Given the description of an element on the screen output the (x, y) to click on. 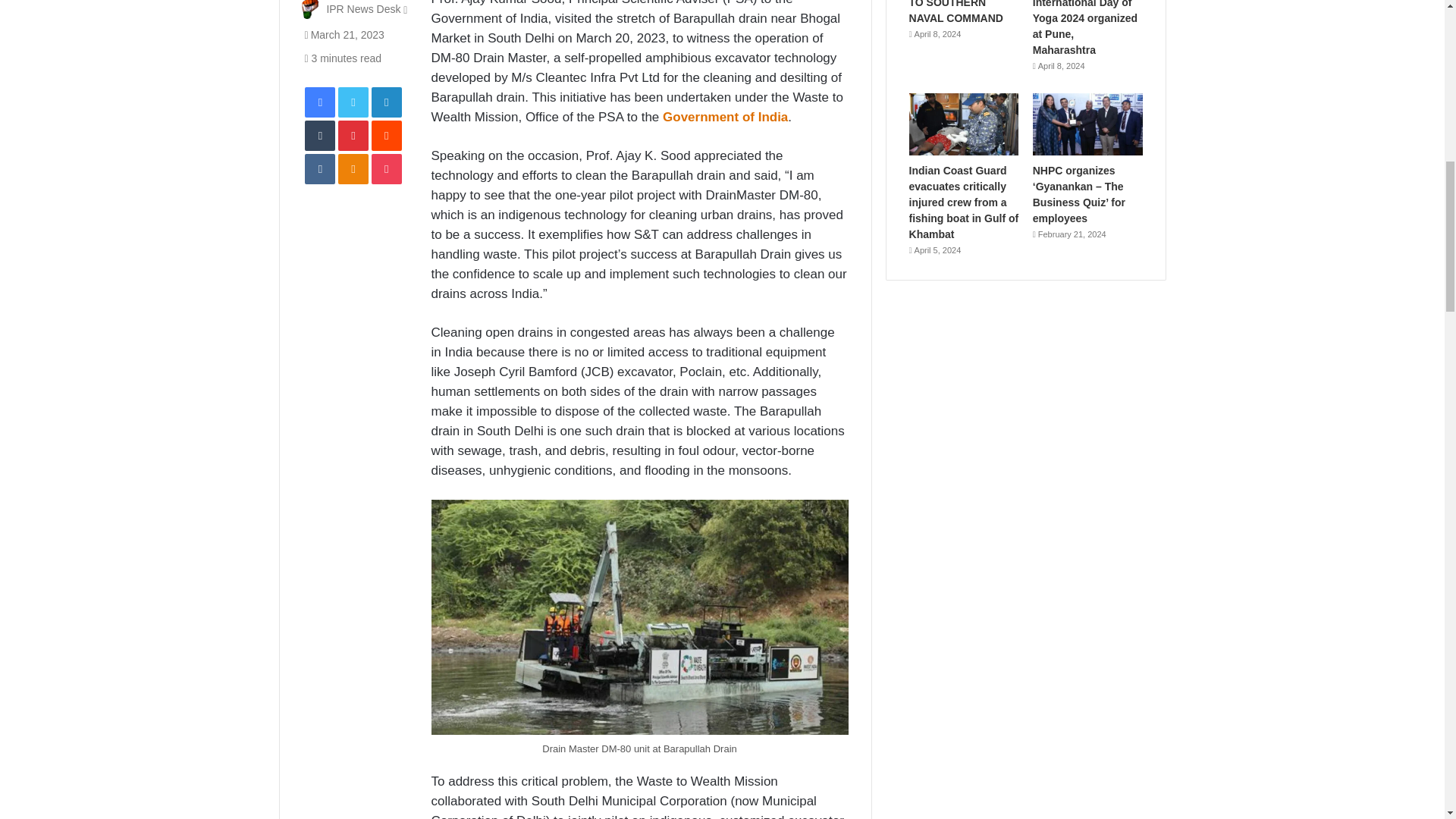
Government of India (724, 116)
VKontakte (319, 168)
Twitter (352, 101)
Tumblr (319, 135)
Reddit (386, 135)
IPR News Desk (363, 9)
Facebook (319, 101)
Facebook (319, 101)
Pinterest (352, 135)
Reddit (386, 135)
Tumblr (319, 135)
LinkedIn (386, 101)
Pinterest (352, 135)
IPR News Desk (363, 9)
Twitter (352, 101)
